Given the description of an element on the screen output the (x, y) to click on. 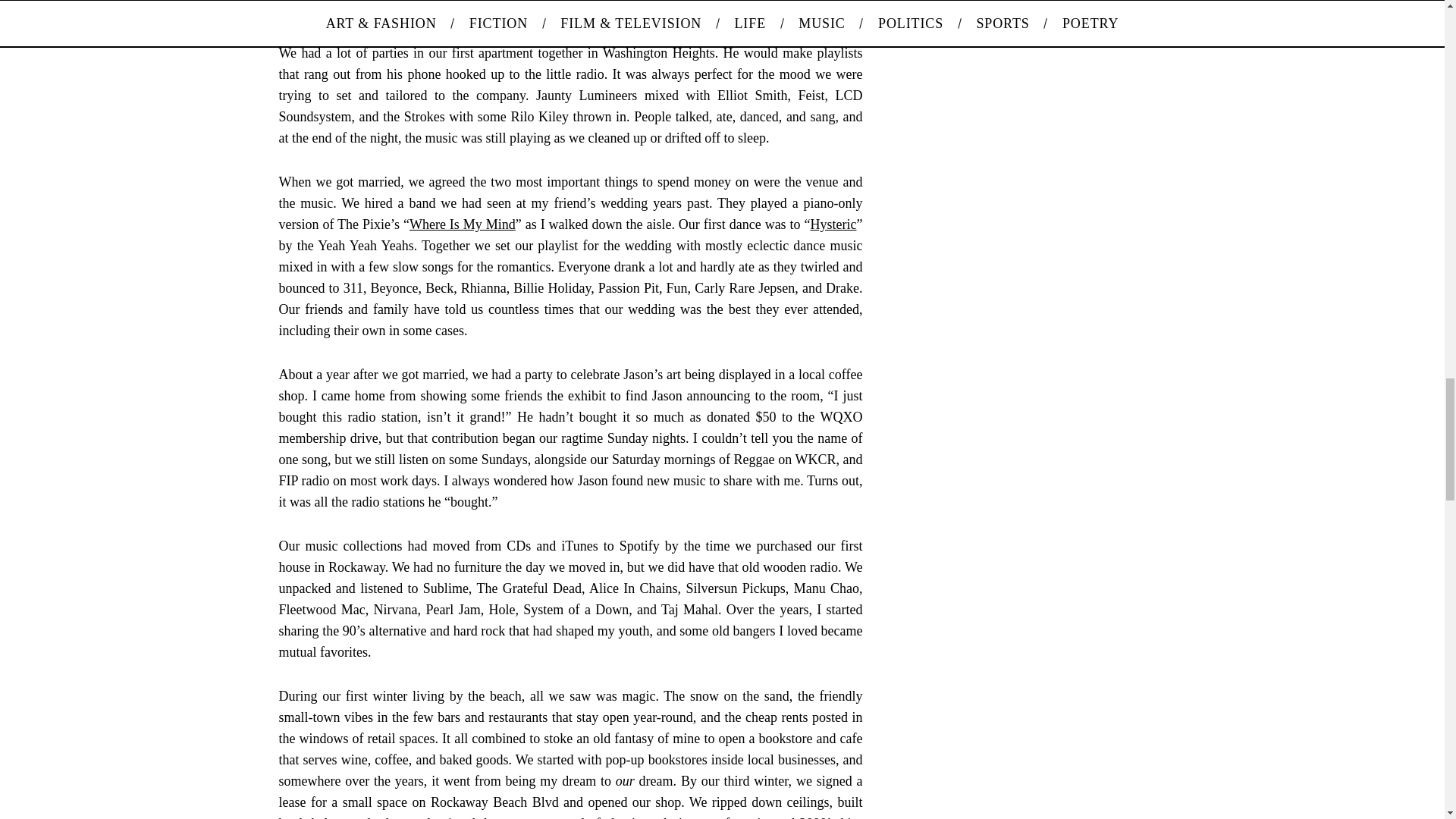
Where Is My Mind (462, 224)
Hysteric (833, 224)
